Given the description of an element on the screen output the (x, y) to click on. 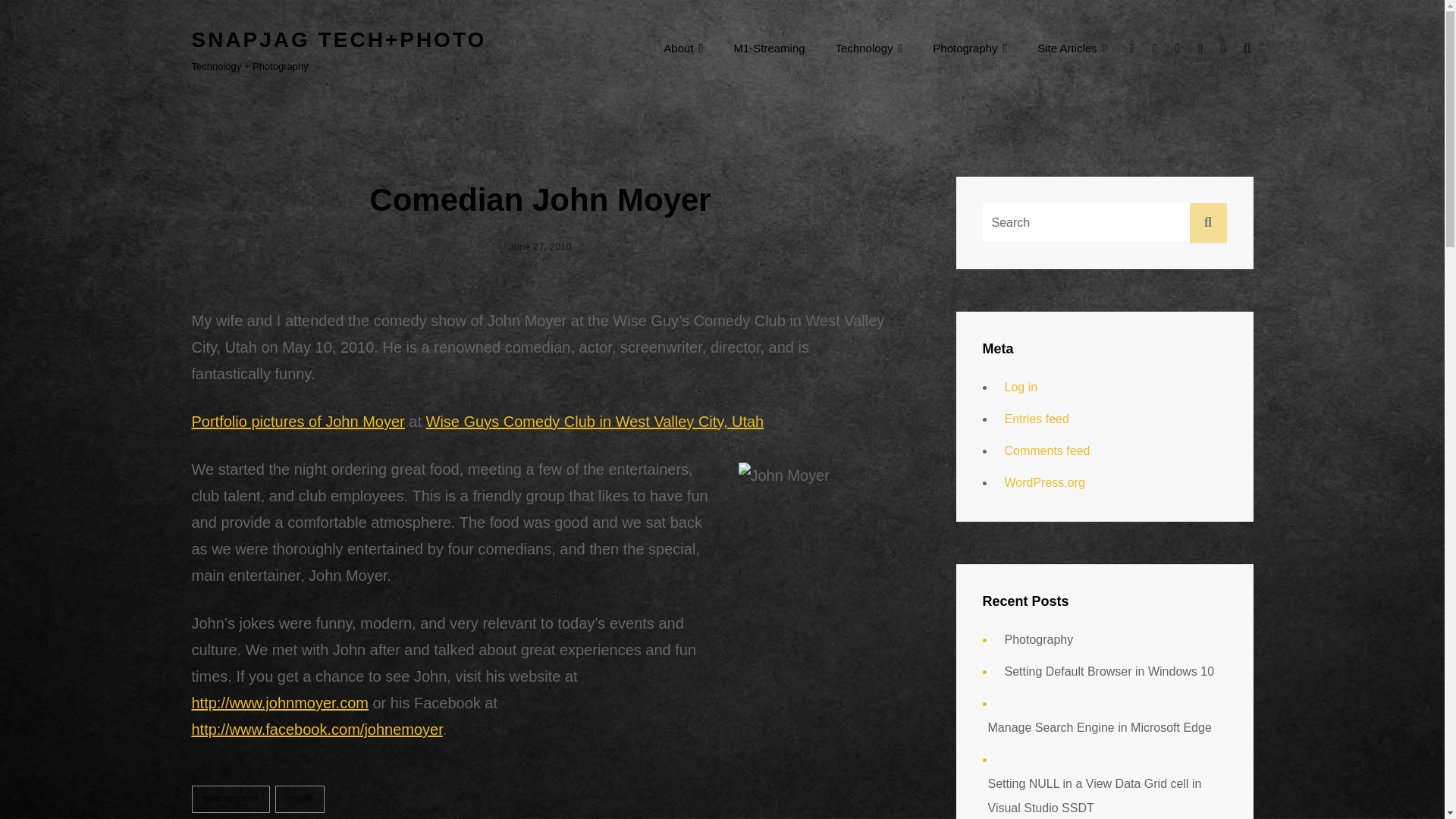
Technology (869, 48)
events (299, 798)
entertainment (229, 798)
June 27, 2010 (539, 246)
Portfolio pictures of John Moyer (297, 421)
Wise Guys Comedy Club in West Valley City, Utah (595, 421)
Photography (969, 48)
M1-Streaming (768, 48)
About (682, 48)
SEARCH (1246, 48)
Site Articles (1071, 48)
